Given the description of an element on the screen output the (x, y) to click on. 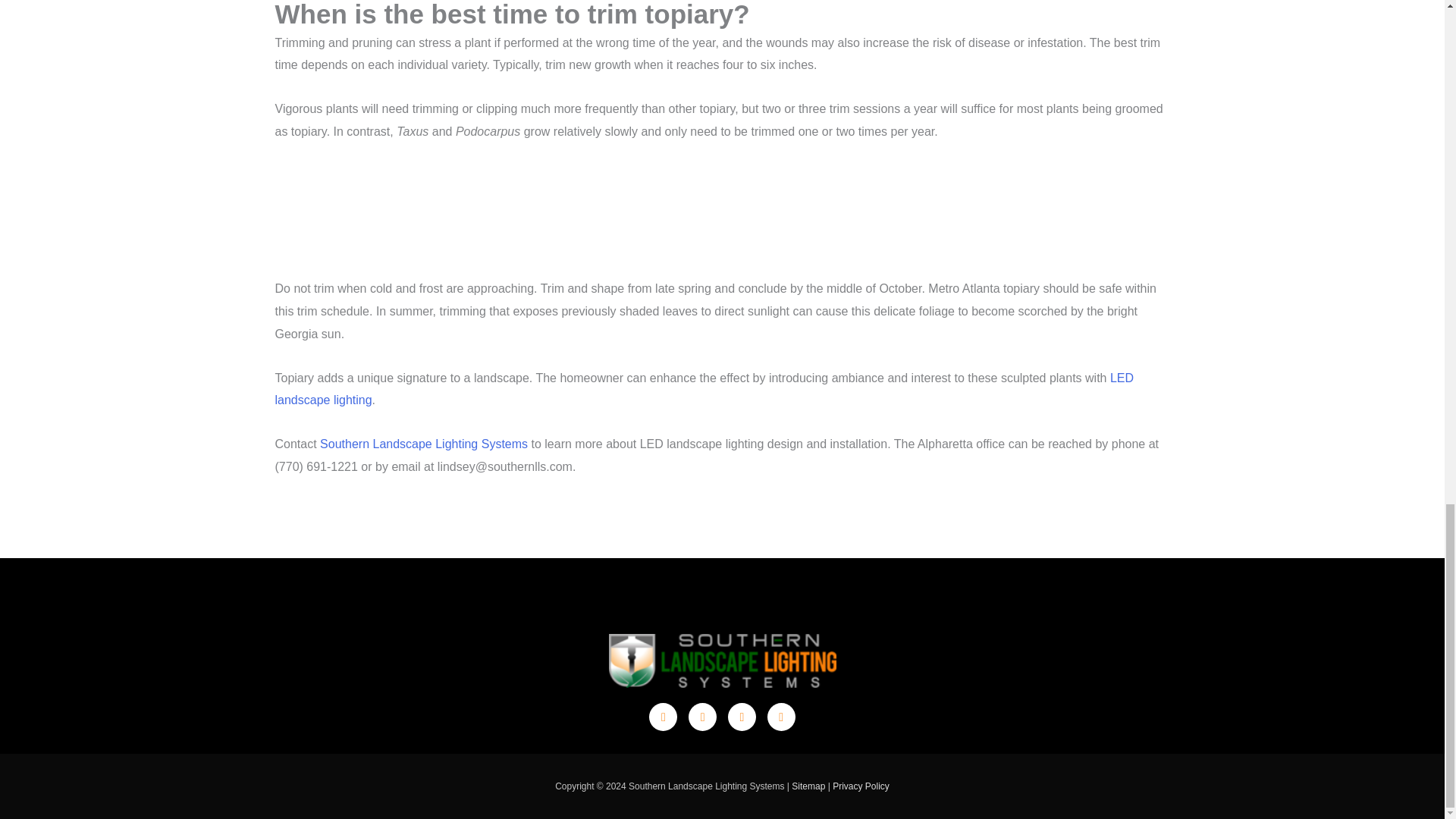
Privacy Policy (860, 786)
Sitemap (808, 786)
Twitter (663, 716)
Youtube (741, 716)
LED landscape lighting (704, 389)
Instagram (780, 716)
Southern Landscape Lighting Systems (423, 443)
Facebook-f (702, 716)
